Given the description of an element on the screen output the (x, y) to click on. 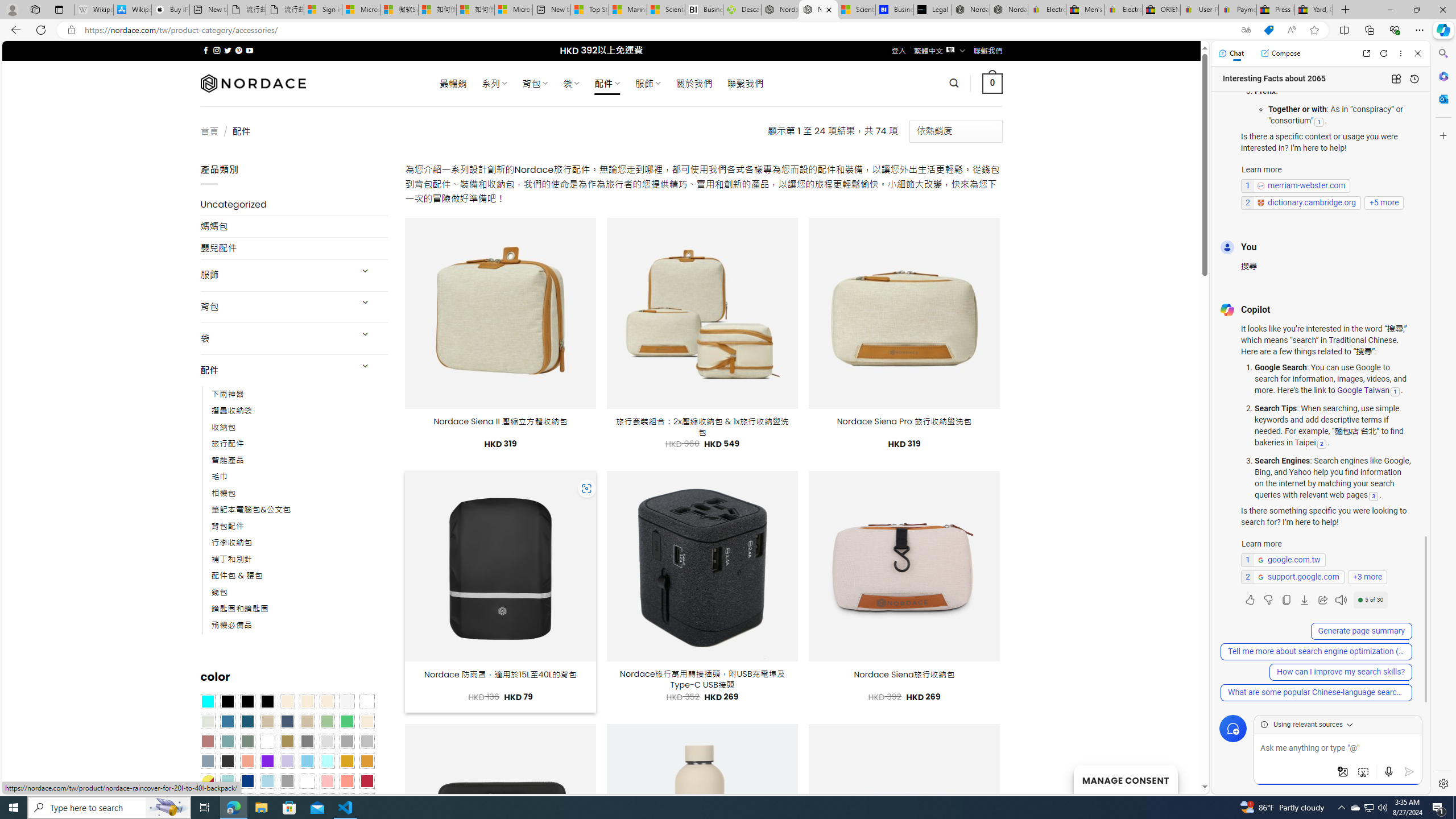
Customize (1442, 135)
Chat (1231, 52)
Electronics, Cars, Fashion, Collectibles & More | eBay (1123, 9)
Address and search bar (658, 29)
Nordace (252, 83)
 0  (992, 83)
